Given the description of an element on the screen output the (x, y) to click on. 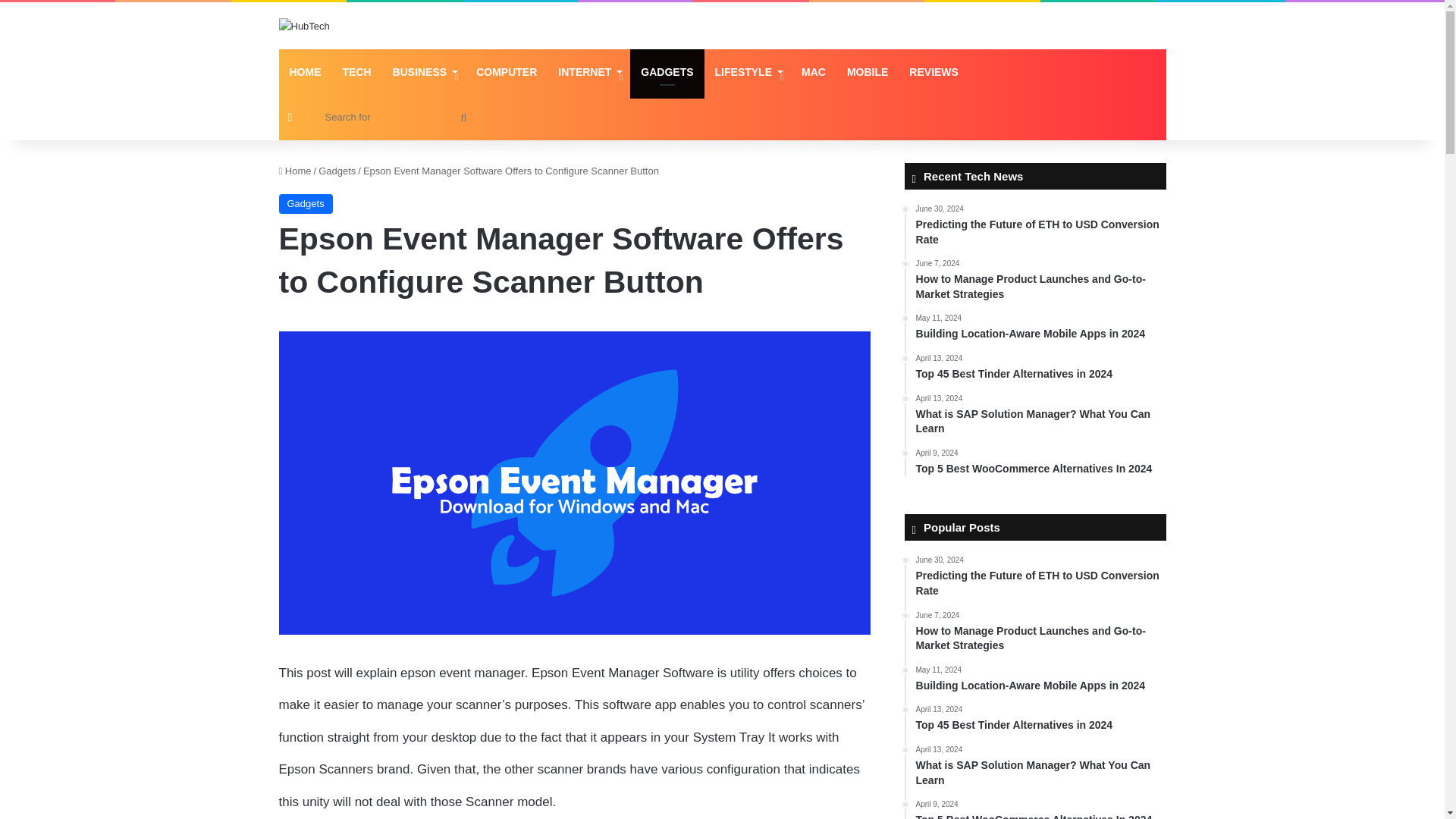
REVIEWS (933, 72)
BUSINESS (423, 72)
Search for (393, 117)
Gadgets (306, 203)
TECH (356, 72)
Home (295, 170)
COMPUTER (506, 72)
Search for (463, 117)
INTERNET (588, 72)
HOME (305, 72)
